Given the description of an element on the screen output the (x, y) to click on. 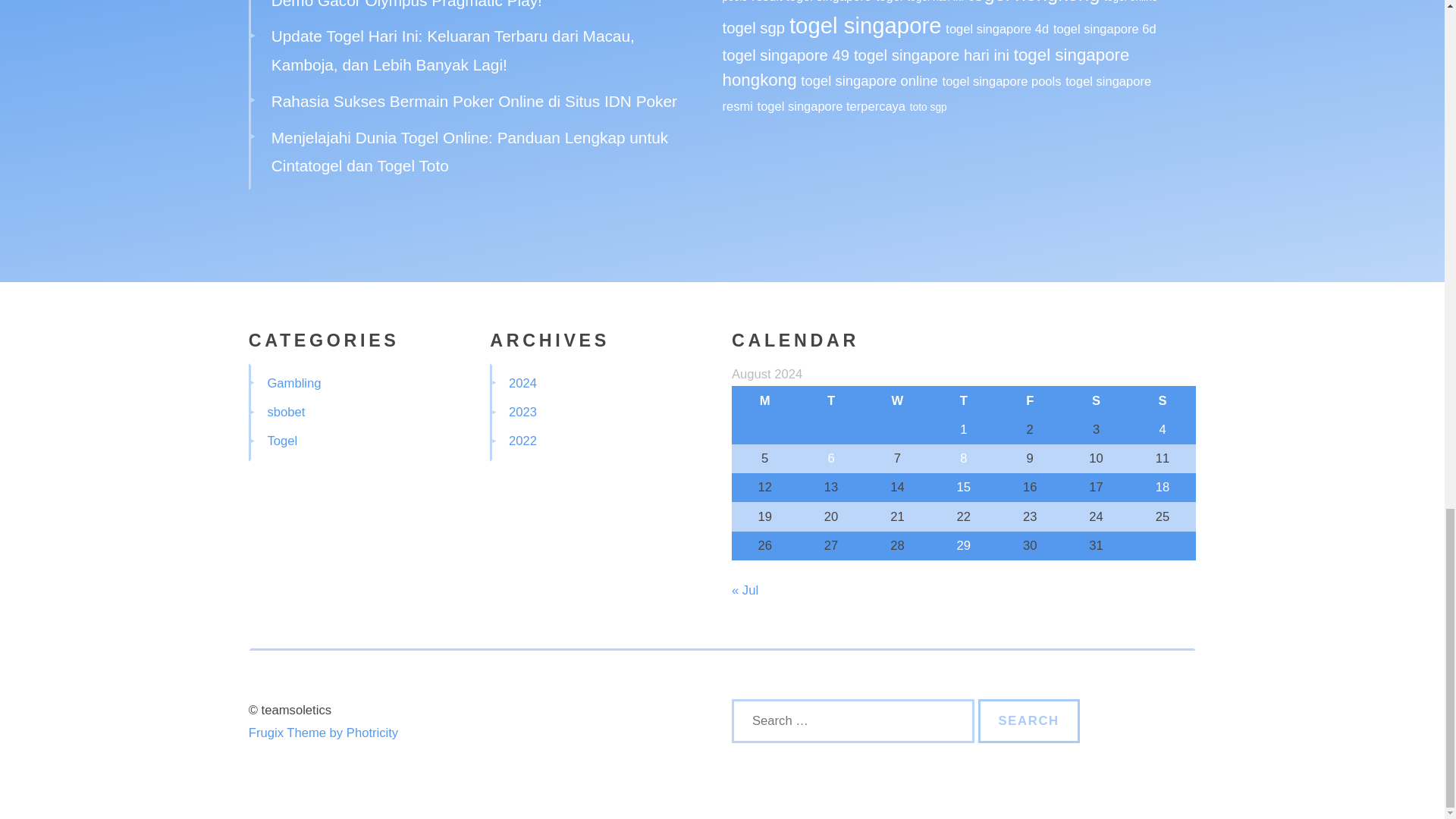
Rahasia Sukses Bermain Poker Online di Situs IDN Poker (473, 100)
togel hongkong (1033, 2)
Thursday (962, 399)
Search (1029, 720)
Saturday (1095, 399)
Friday (1029, 399)
Monday (764, 399)
togel hari ini (934, 1)
